Given the description of an element on the screen output the (x, y) to click on. 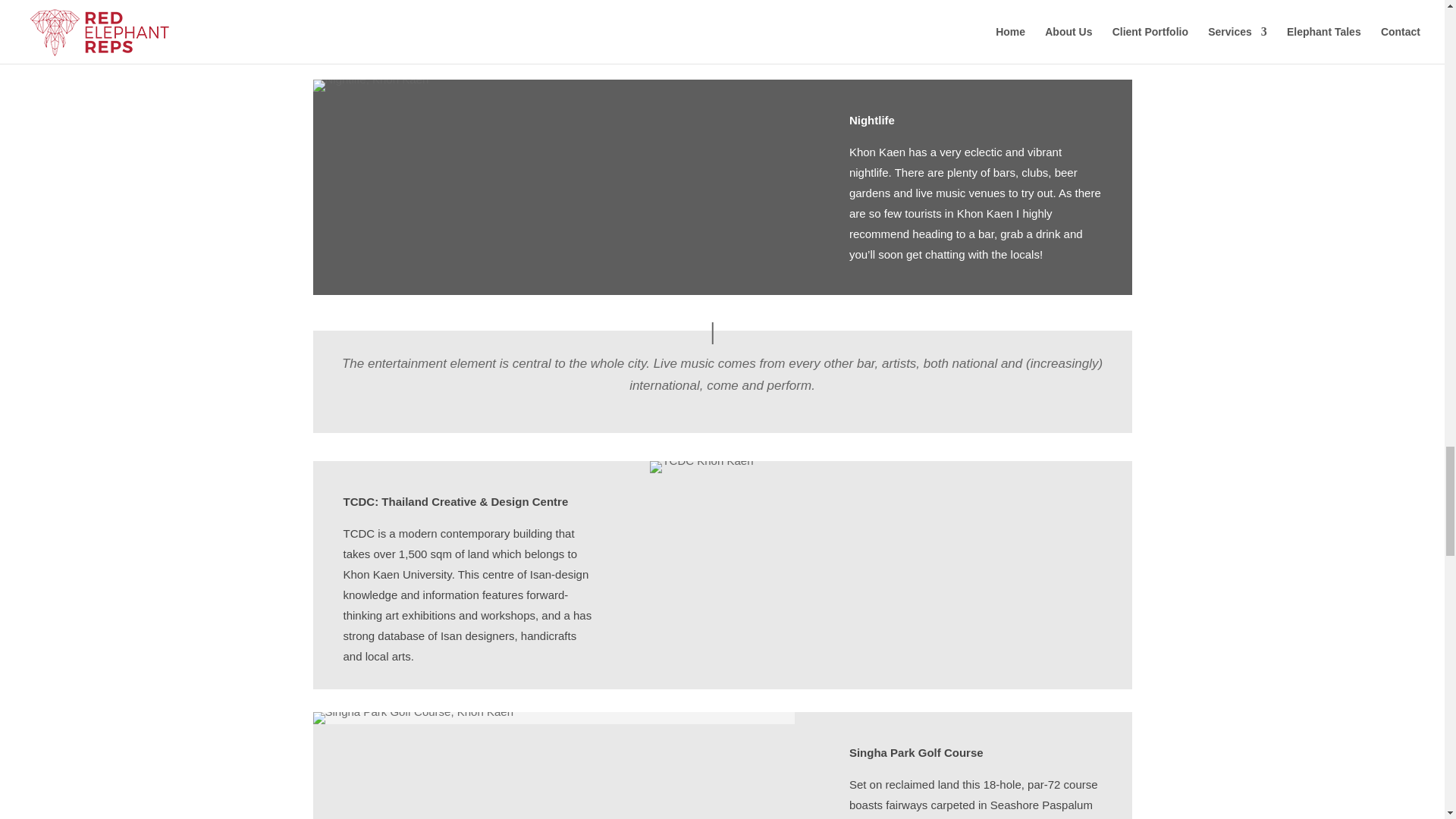
Krua Supanniga, Khon Kaen (390, 52)
Isan cuisine (911, 52)
Krua Supanniga, Khon Kaen (671, 52)
TCDC Khon Kaen (700, 467)
Nightlife, Khon Kaen (370, 85)
